Given the description of an element on the screen output the (x, y) to click on. 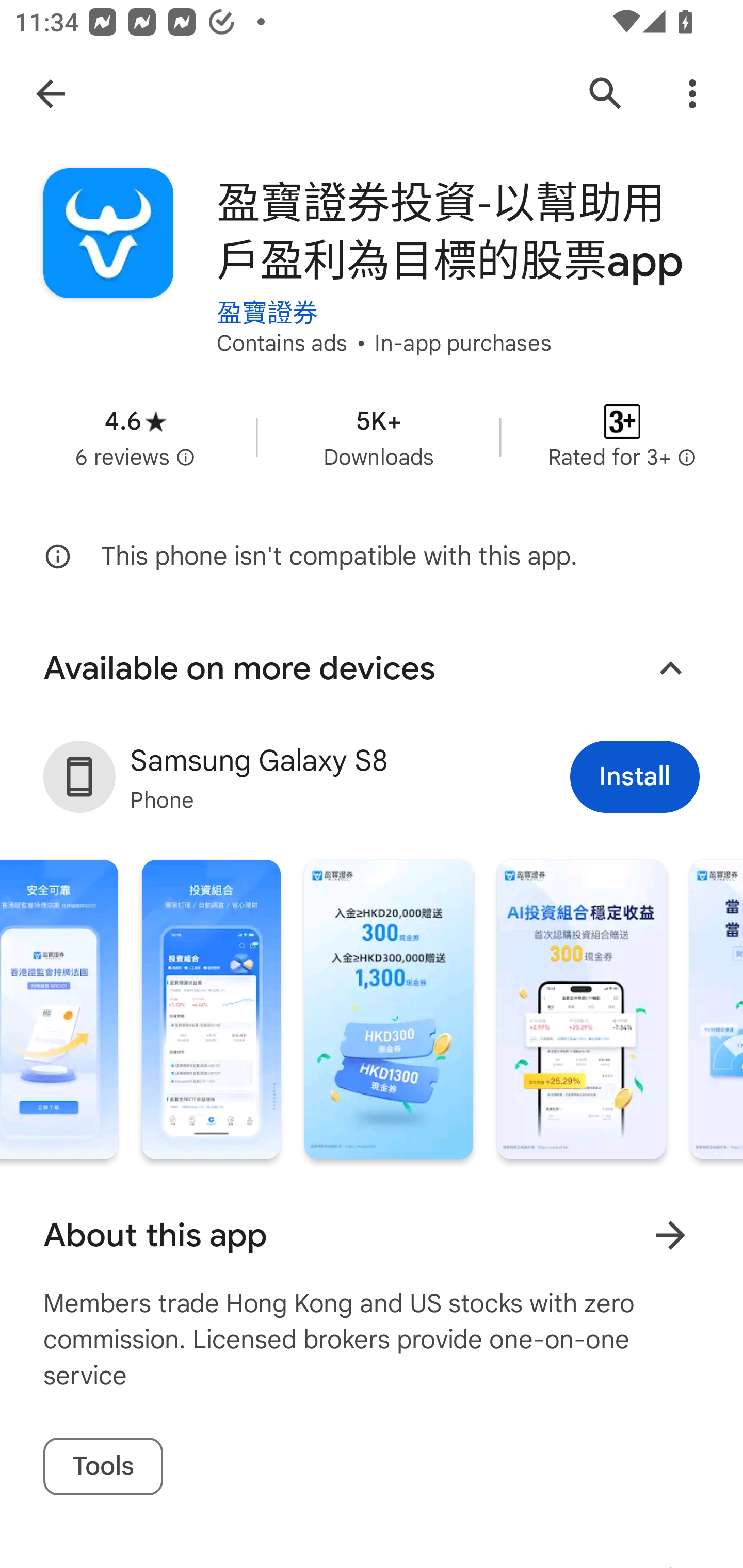
Navigate up (50, 93)
Search Google Play (605, 93)
More Options (692, 93)
盈寶證券 (267, 298)
Average rating 4.6 stars in 6 reviews (135, 437)
Content rating Rated for 3+ (622, 437)
Available on more devices Collapse (371, 668)
Collapse (670, 668)
Install (634, 776)
Screenshot "4" of "8" (59, 1008)
Screenshot "5" of "8" (210, 1008)
Screenshot "6" of "8" (388, 1008)
Screenshot "7" of "8" (581, 1008)
About this app Learn more About this app (371, 1235)
Learn more About this app (670, 1234)
Tools tag (102, 1466)
